Given the description of an element on the screen output the (x, y) to click on. 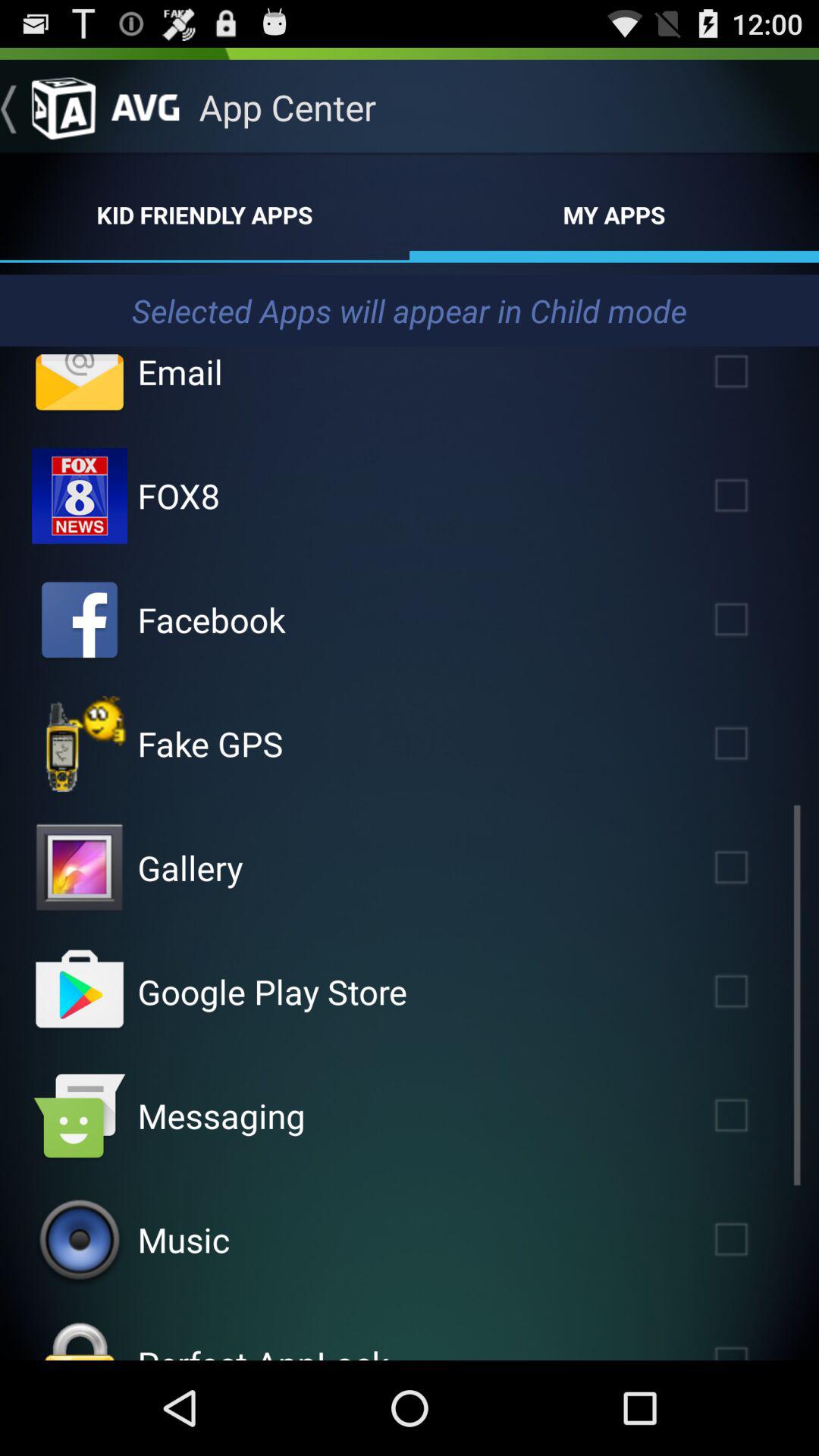
select email app (753, 378)
